Given the description of an element on the screen output the (x, y) to click on. 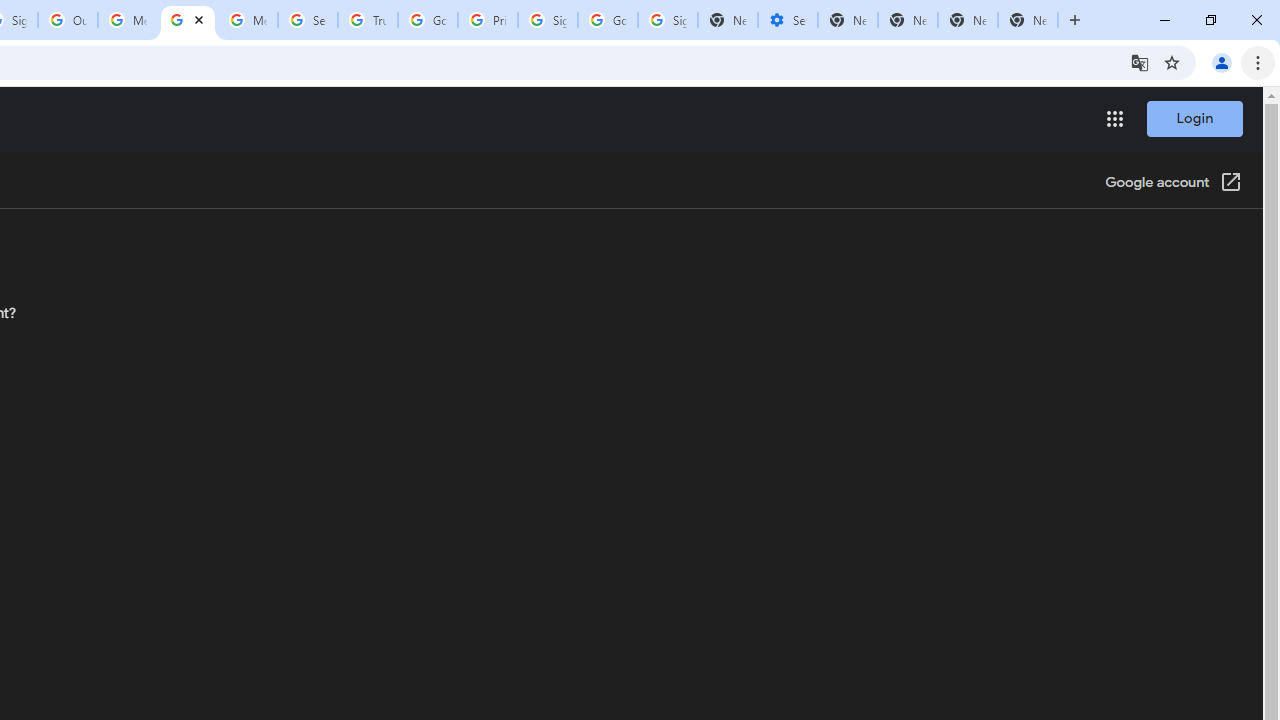
Sign in - Google Accounts (548, 20)
Google Ads - Sign in (428, 20)
Login (1194, 118)
Search our Doodle Library Collection - Google Doodles (307, 20)
